Given the description of an element on the screen output the (x, y) to click on. 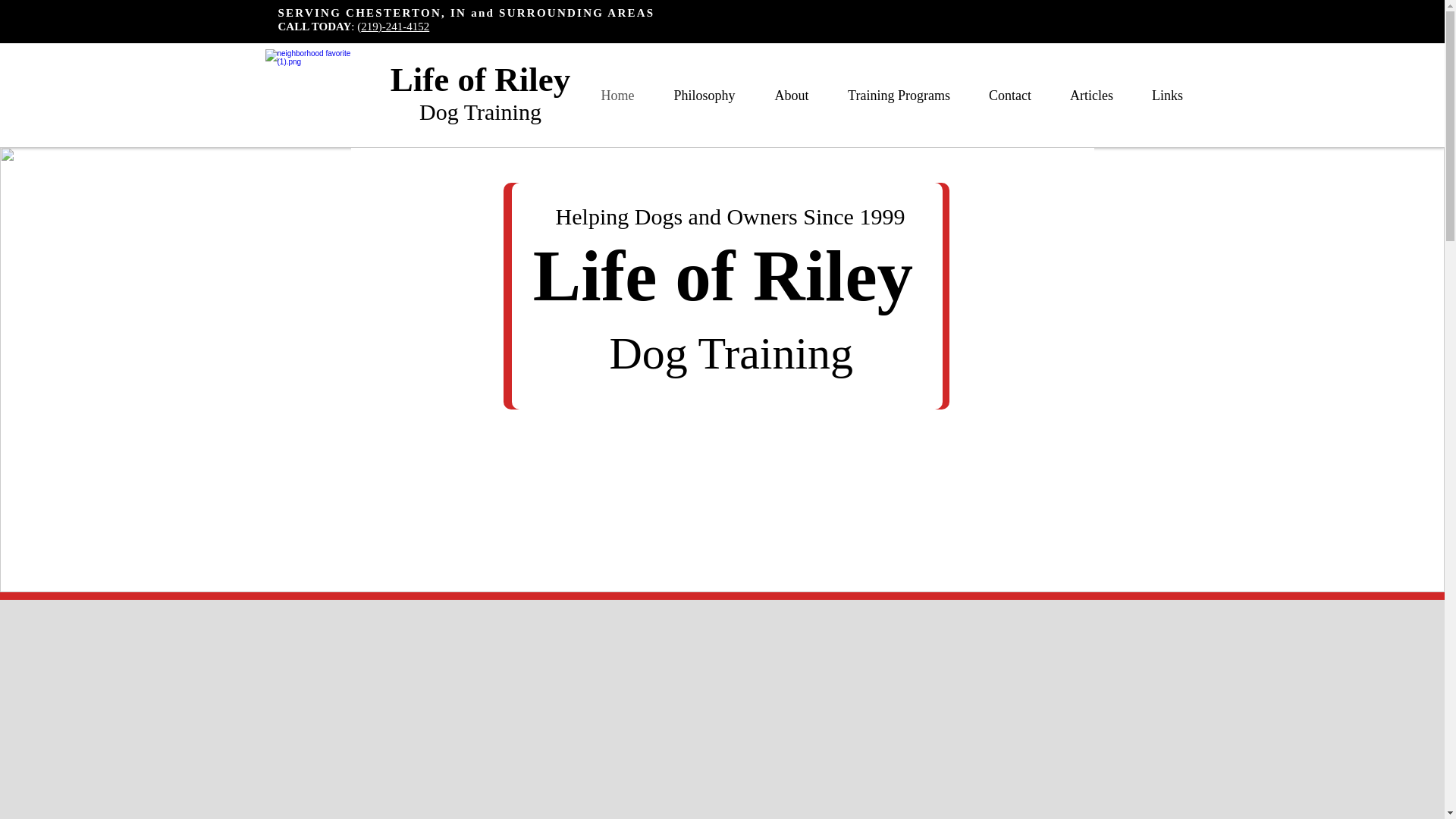
Articles (1091, 96)
Philosophy (703, 96)
Links (1167, 96)
Life of Riley (480, 78)
Training Programs (898, 96)
Contact (1009, 96)
Home (616, 96)
Dog Training (480, 111)
About (791, 96)
